Given the description of an element on the screen output the (x, y) to click on. 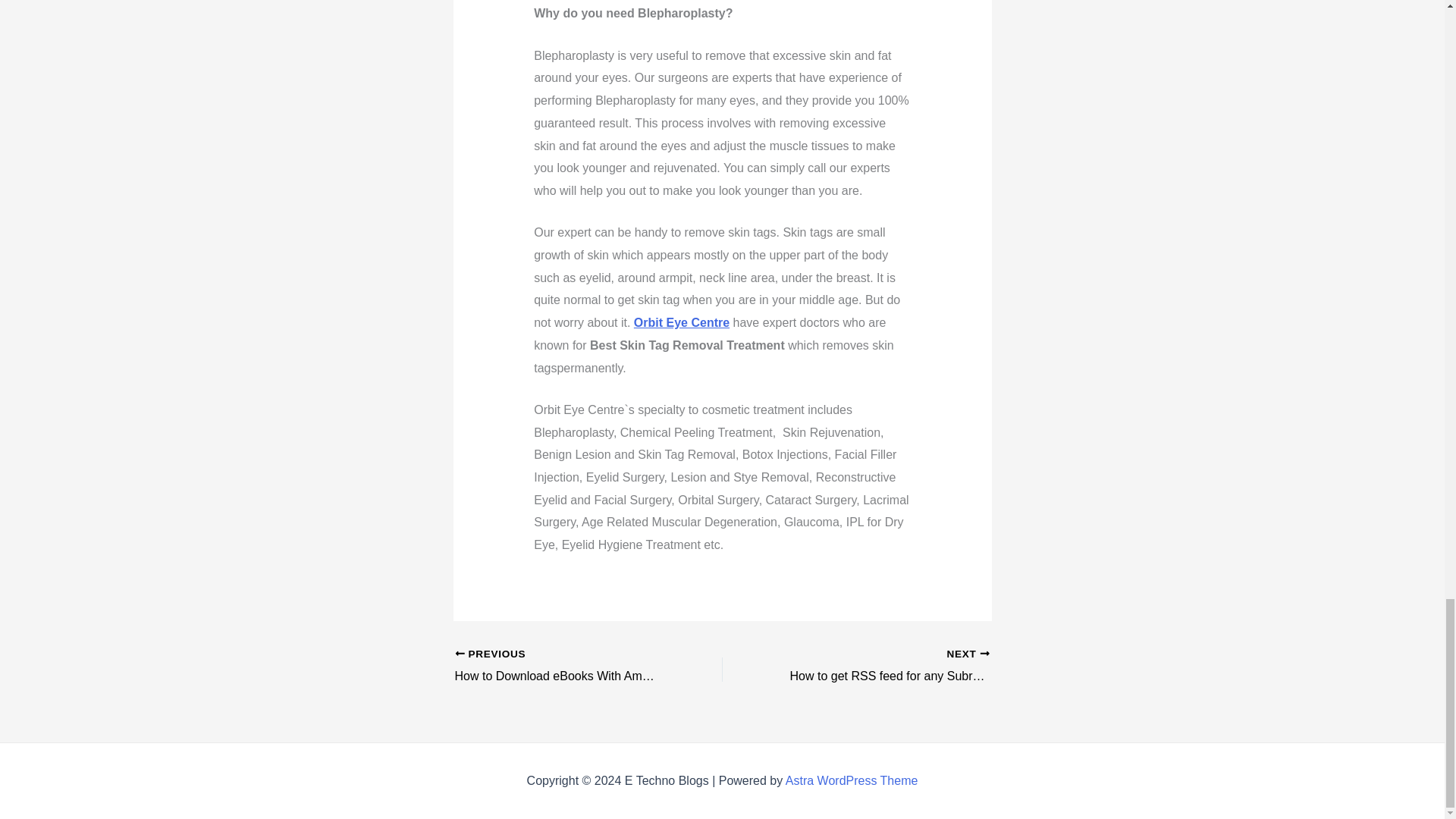
Orbit Eye Centre (681, 322)
How to get RSS feed for any Subreddit (882, 666)
Astra WordPress Theme (882, 666)
How to Download eBooks With Amazon Prime for Free (852, 780)
